Given the description of an element on the screen output the (x, y) to click on. 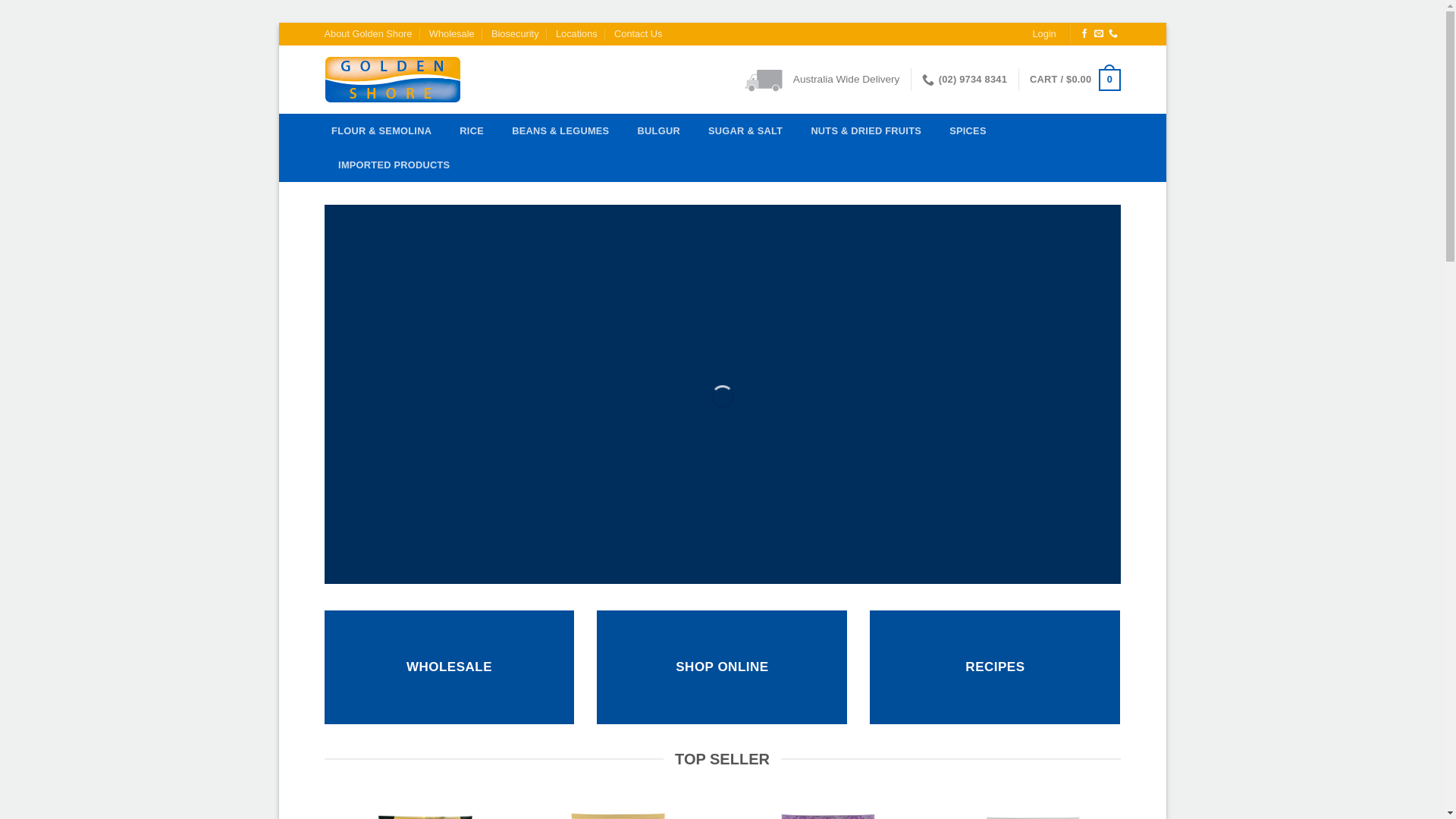
SHOP ONLINE Element type: text (722, 667)
SUGAR & SALT Element type: text (744, 130)
WHOLESALE Element type: text (448, 667)
RECIPES Element type: text (995, 667)
Follow on Facebook Element type: hover (1083, 33)
Contact Us Element type: text (638, 33)
SPICES Element type: text (968, 130)
Wholesale Element type: text (451, 33)
(02) 9734 8341 Element type: text (964, 79)
Locations Element type: text (576, 33)
Send us an email Element type: hover (1098, 33)
RICE Element type: text (471, 130)
Skip to content Element type: text (279, 22)
CART / $0.00
0 Element type: text (1074, 80)
Login Element type: text (1043, 33)
Biosecurity Element type: text (515, 33)
NUTS & DRIED FRUITS Element type: text (865, 130)
FLOUR & SEMOLINA Element type: text (381, 130)
BEANS & LEGUMES Element type: text (560, 130)
IMPORTED PRODUCTS Element type: text (393, 164)
BULGUR Element type: text (658, 130)
Golden Shore - Golden Shore Element type: hover (397, 79)
About Golden Shore Element type: text (368, 33)
Call us Element type: hover (1112, 33)
